Given the description of an element on the screen output the (x, y) to click on. 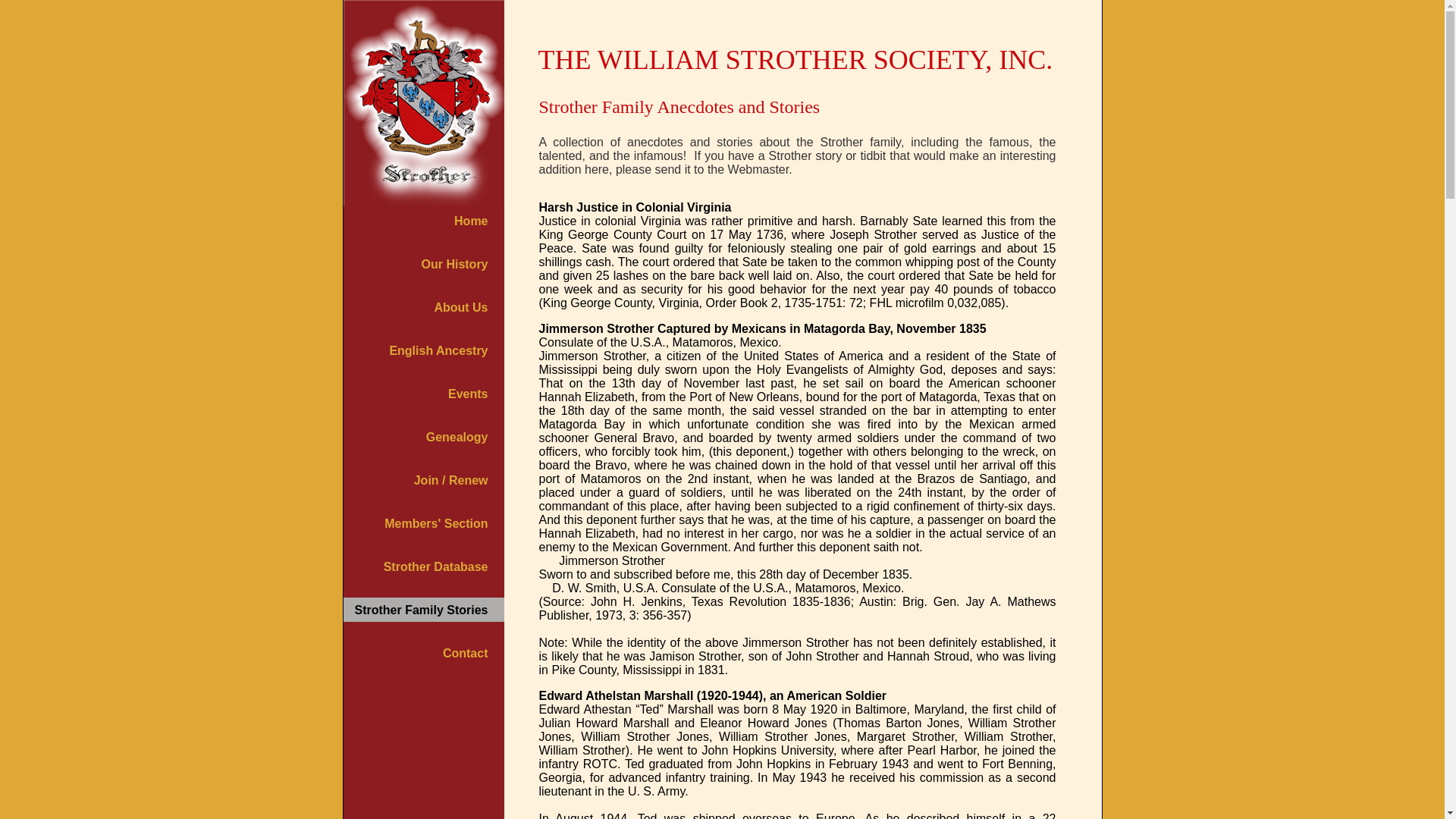
Strother Family Stories (420, 609)
About Us (460, 307)
Home (470, 220)
Members' Section (435, 522)
Genealogy (456, 436)
Contact (464, 653)
English Ancestry (437, 350)
Strother Database (435, 566)
Our History (453, 264)
Events (467, 393)
